Given the description of an element on the screen output the (x, y) to click on. 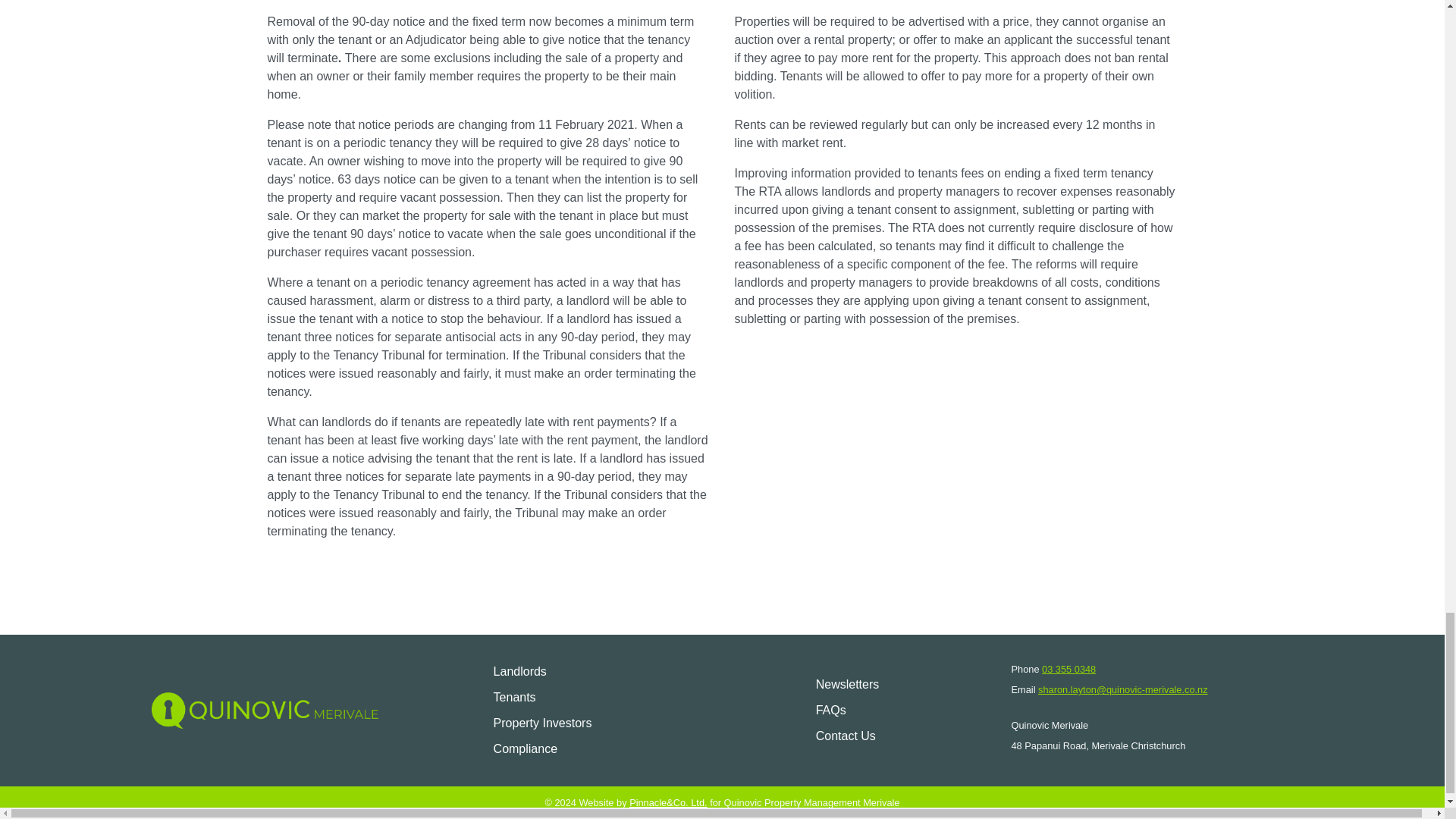
03 355 0348 (1069, 668)
Property Investors (542, 723)
FAQs (847, 710)
Tenants (542, 697)
Landlords (542, 671)
Newsletters (847, 684)
Compliance (542, 749)
Contact Us (847, 736)
